Given the description of an element on the screen output the (x, y) to click on. 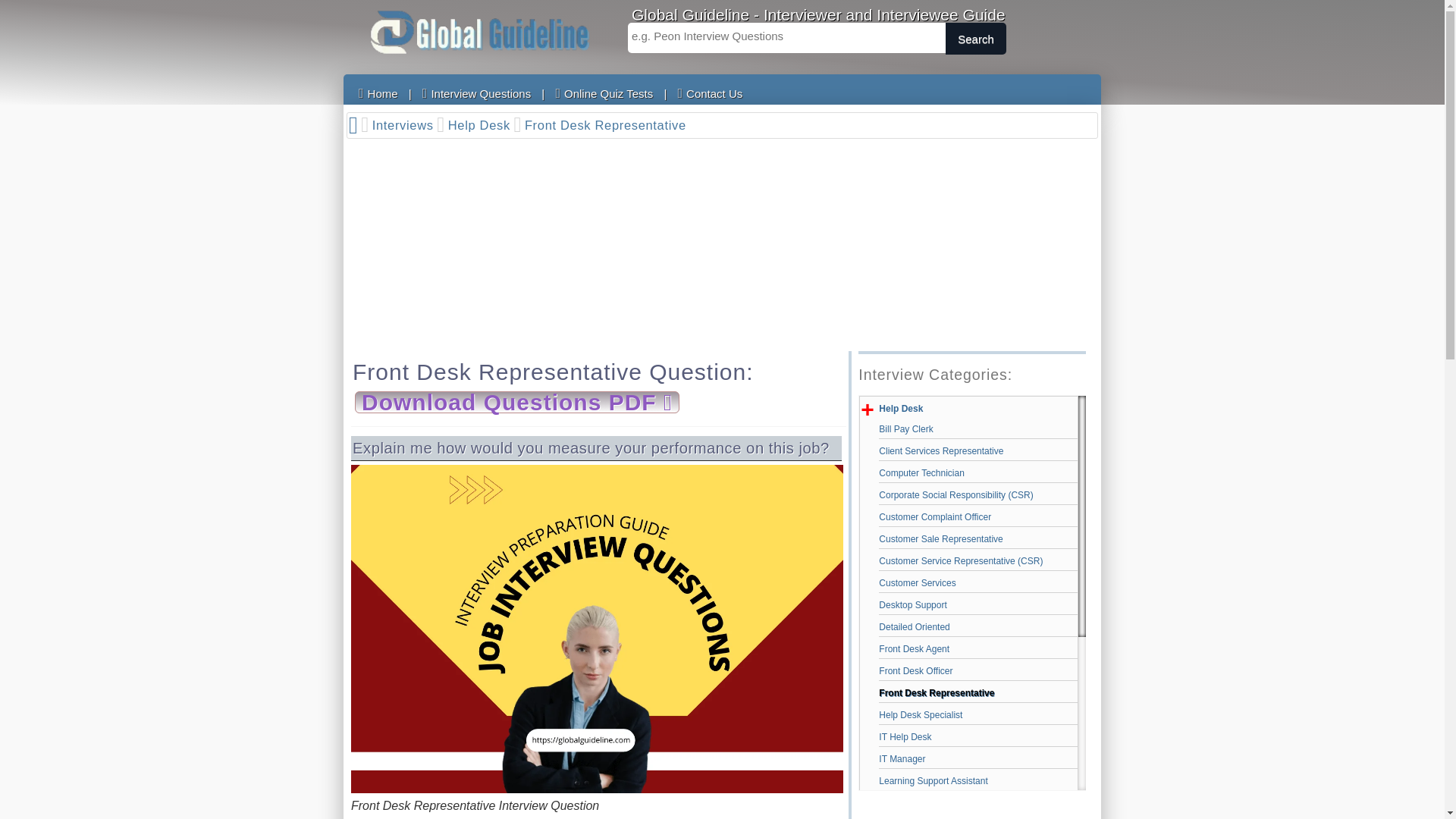
Online Quiz Tests (604, 92)
Learning Support Assistant (978, 781)
Client Services Representative (978, 450)
IT Help Desk (978, 737)
Computer Technician (978, 473)
Front Desk Representative (607, 125)
Customer Complaint Officer (978, 517)
Interviews (408, 125)
Download Questions PDF (516, 398)
Detailed Oriented (978, 626)
Detailed Oriented (978, 626)
Desktop Support (978, 605)
Help Desk Specialist (978, 714)
Front Desk Agent (978, 649)
